Given the description of an element on the screen output the (x, y) to click on. 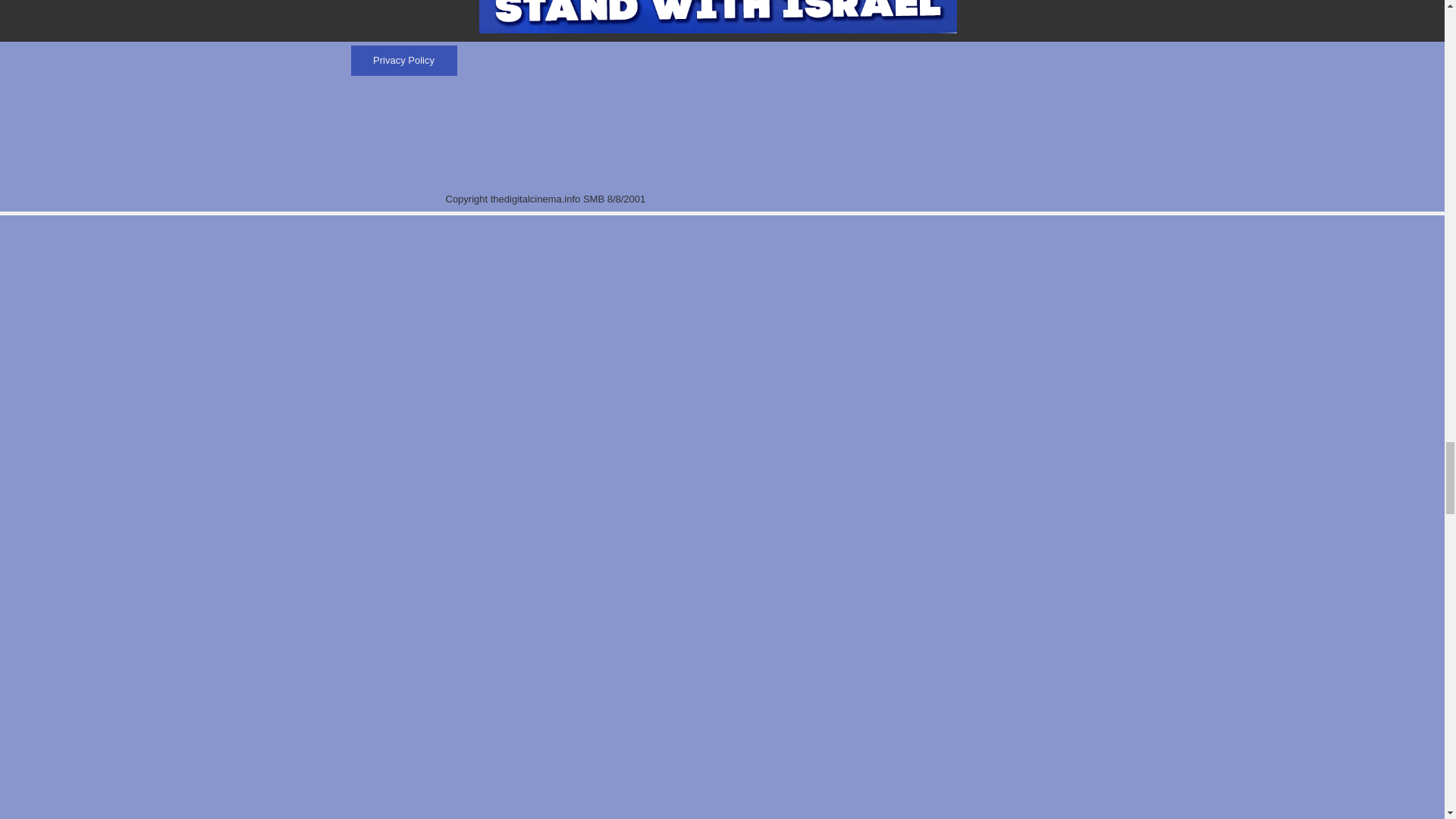
Privacy Policy (403, 60)
